Given the description of an element on the screen output the (x, y) to click on. 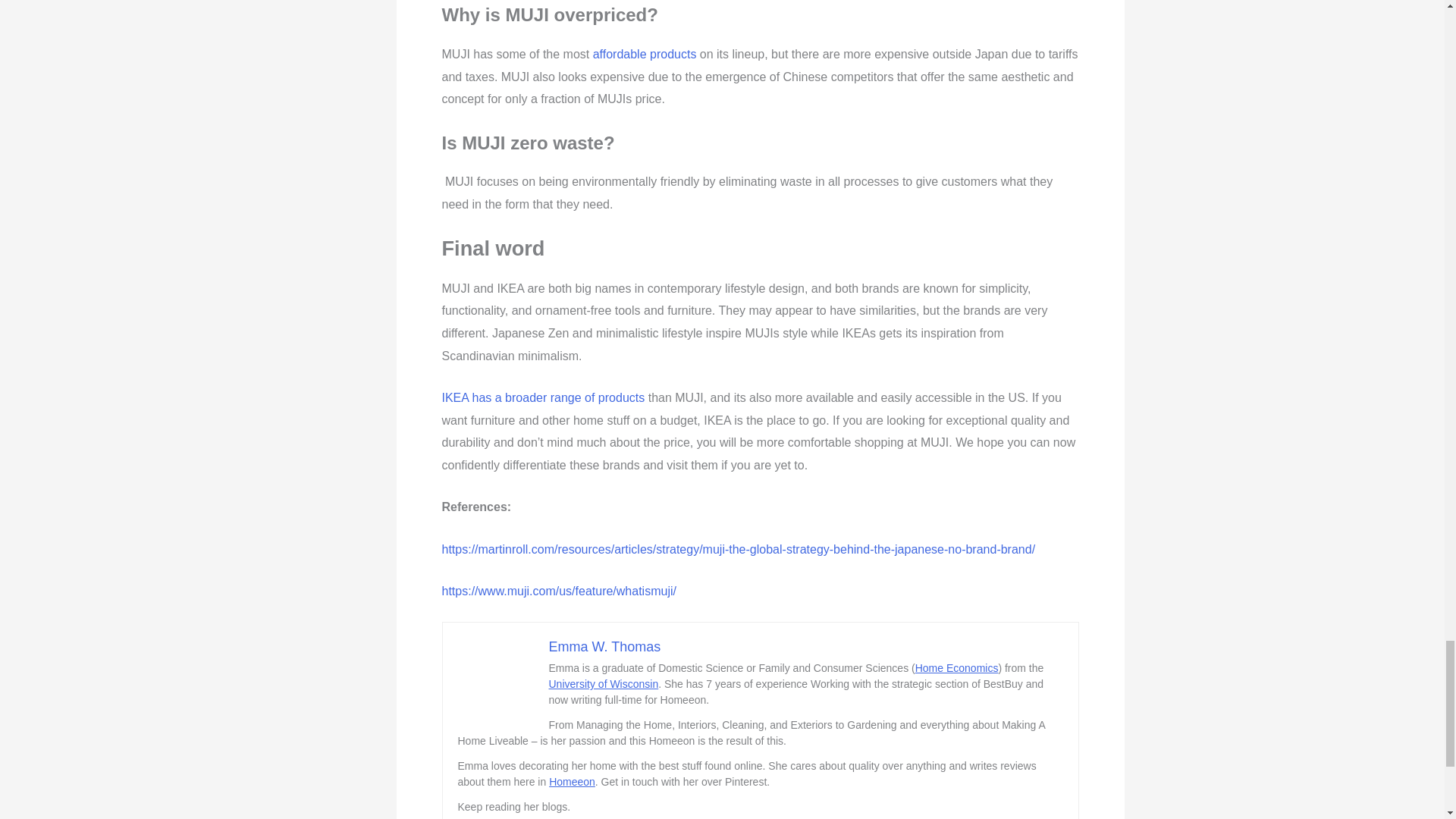
Emma W. Thomas (604, 646)
Home Economics (956, 667)
IKEA has a broader range of products (543, 397)
University of Wisconsin (603, 684)
affordable products (644, 53)
Homeeon (571, 781)
